Given the description of an element on the screen output the (x, y) to click on. 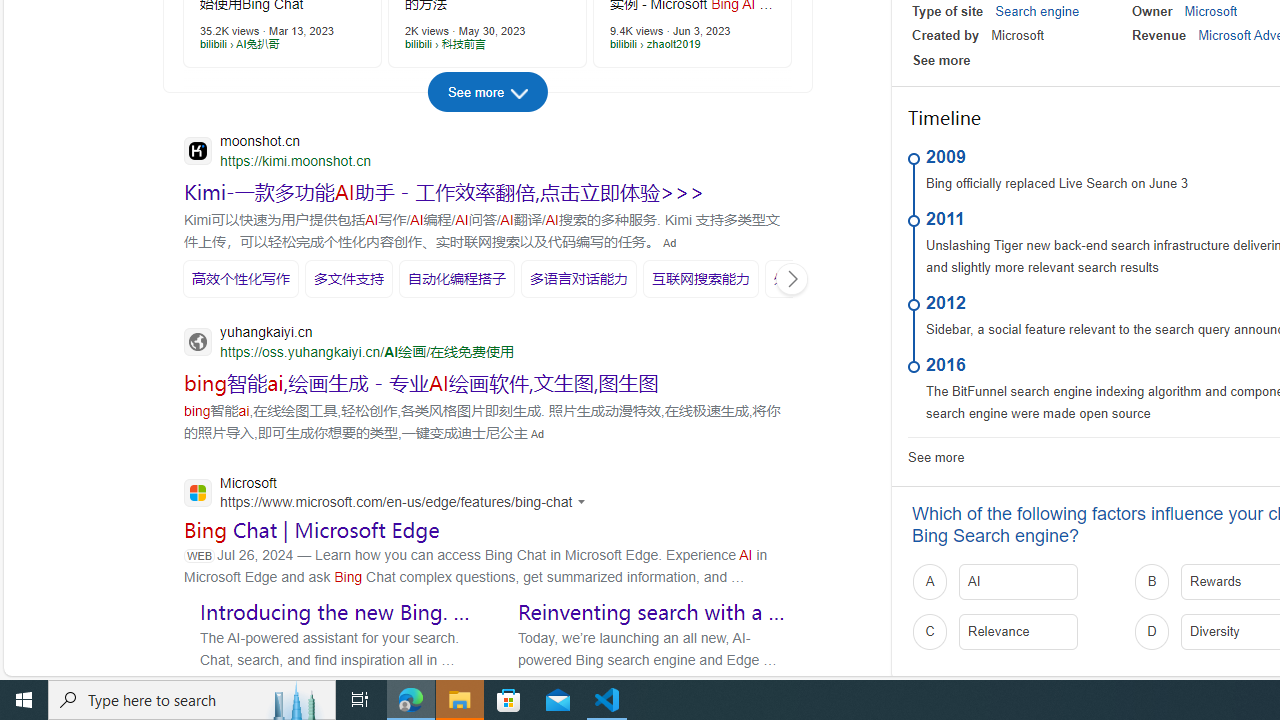
SERP,5717 (579, 278)
SERP,5715 (348, 278)
Owner (1151, 11)
Bing officially replaced Live Search on June 3 (1057, 183)
C Relevance (1016, 631)
SERP,5715 (348, 278)
Global web icon (197, 493)
Created by (945, 35)
SERP,5723 (421, 383)
